Given the description of an element on the screen output the (x, y) to click on. 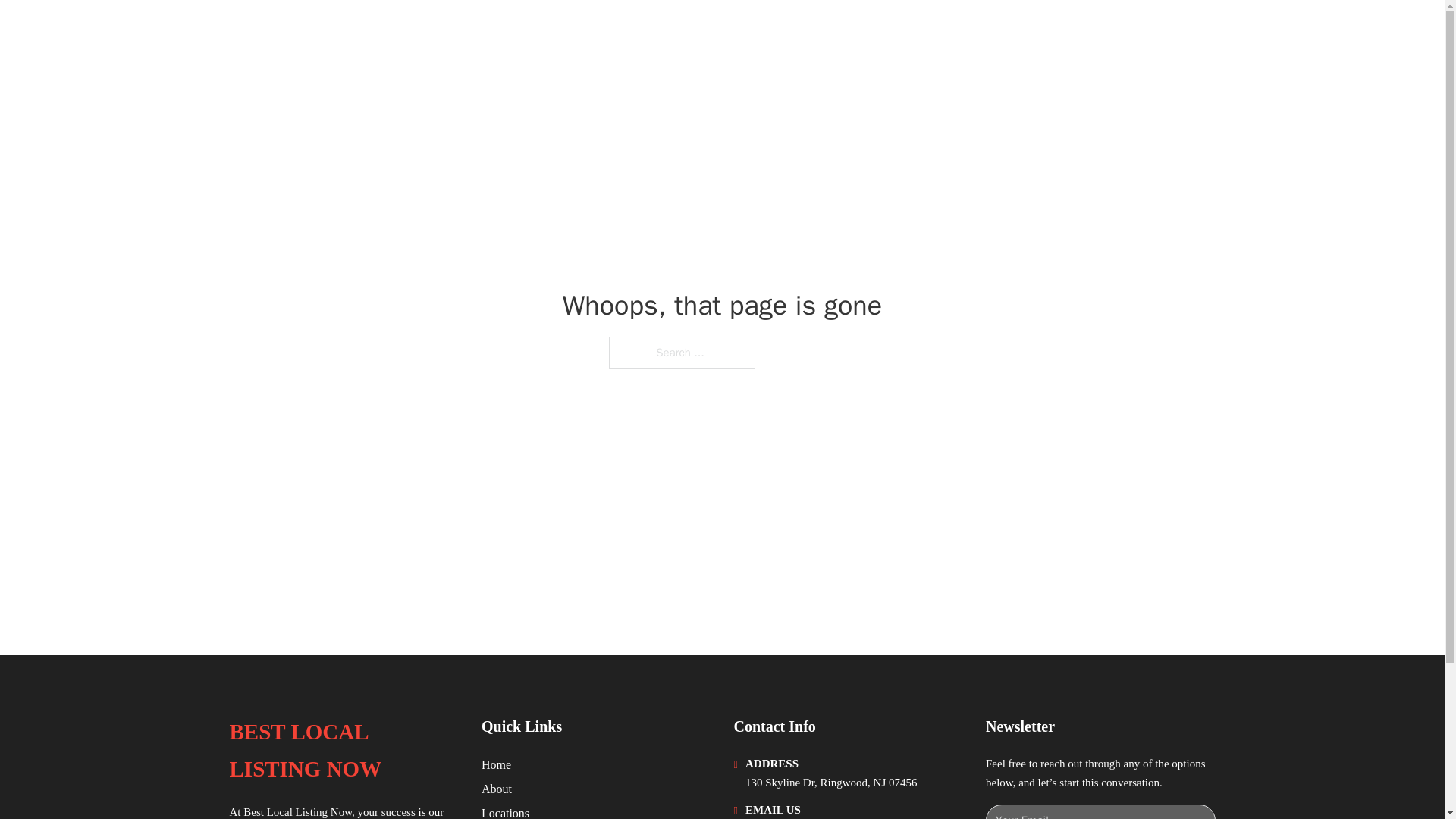
LOCATIONS (1098, 31)
HOME (1025, 31)
BEST LOCAL LISTING NOW (343, 750)
Locations (505, 811)
About (496, 788)
BEST LOCAL LISTING NOW (392, 31)
Home (496, 764)
